Given the description of an element on the screen output the (x, y) to click on. 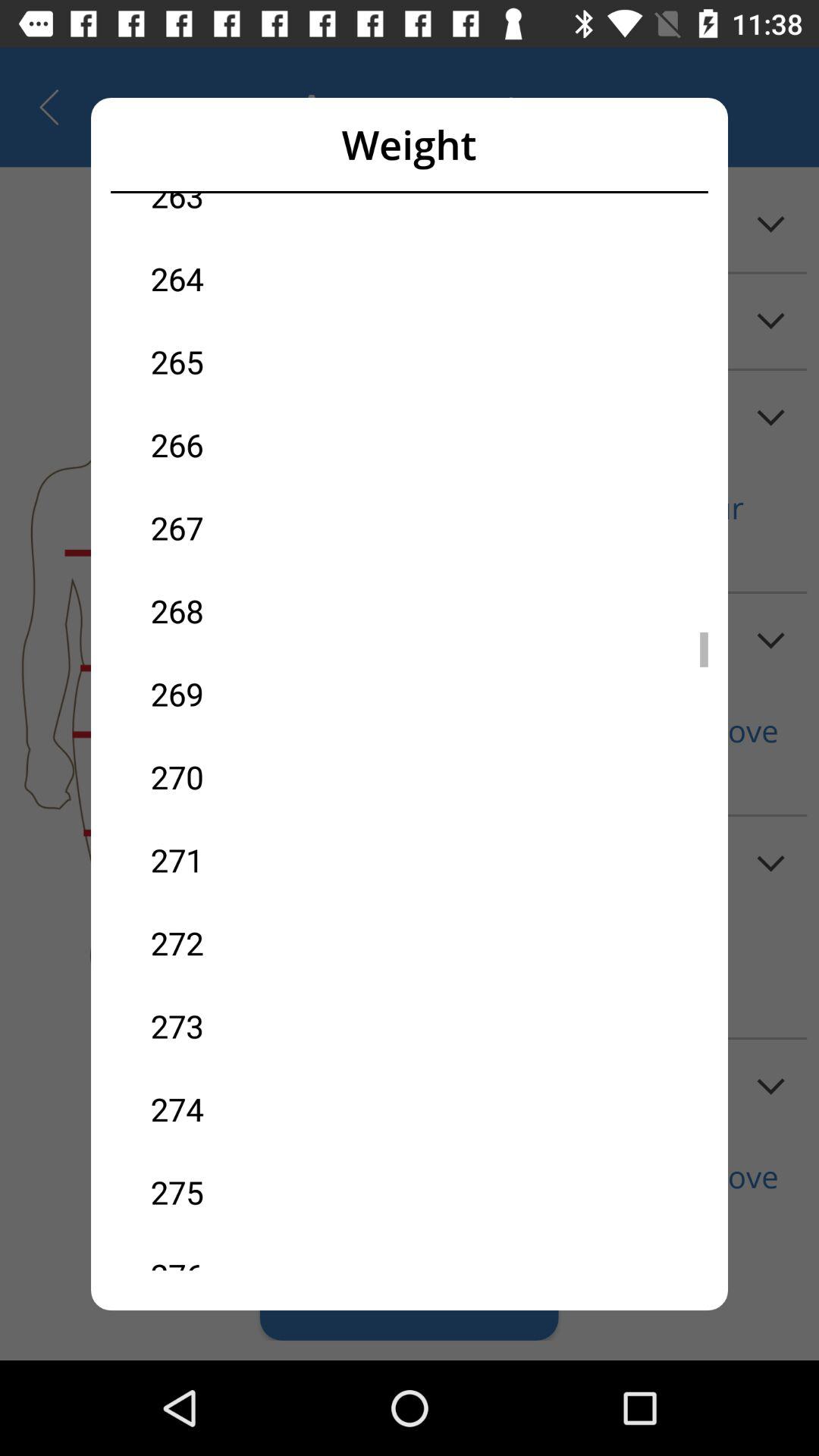
turn off the 269 (279, 693)
